Given the description of an element on the screen output the (x, y) to click on. 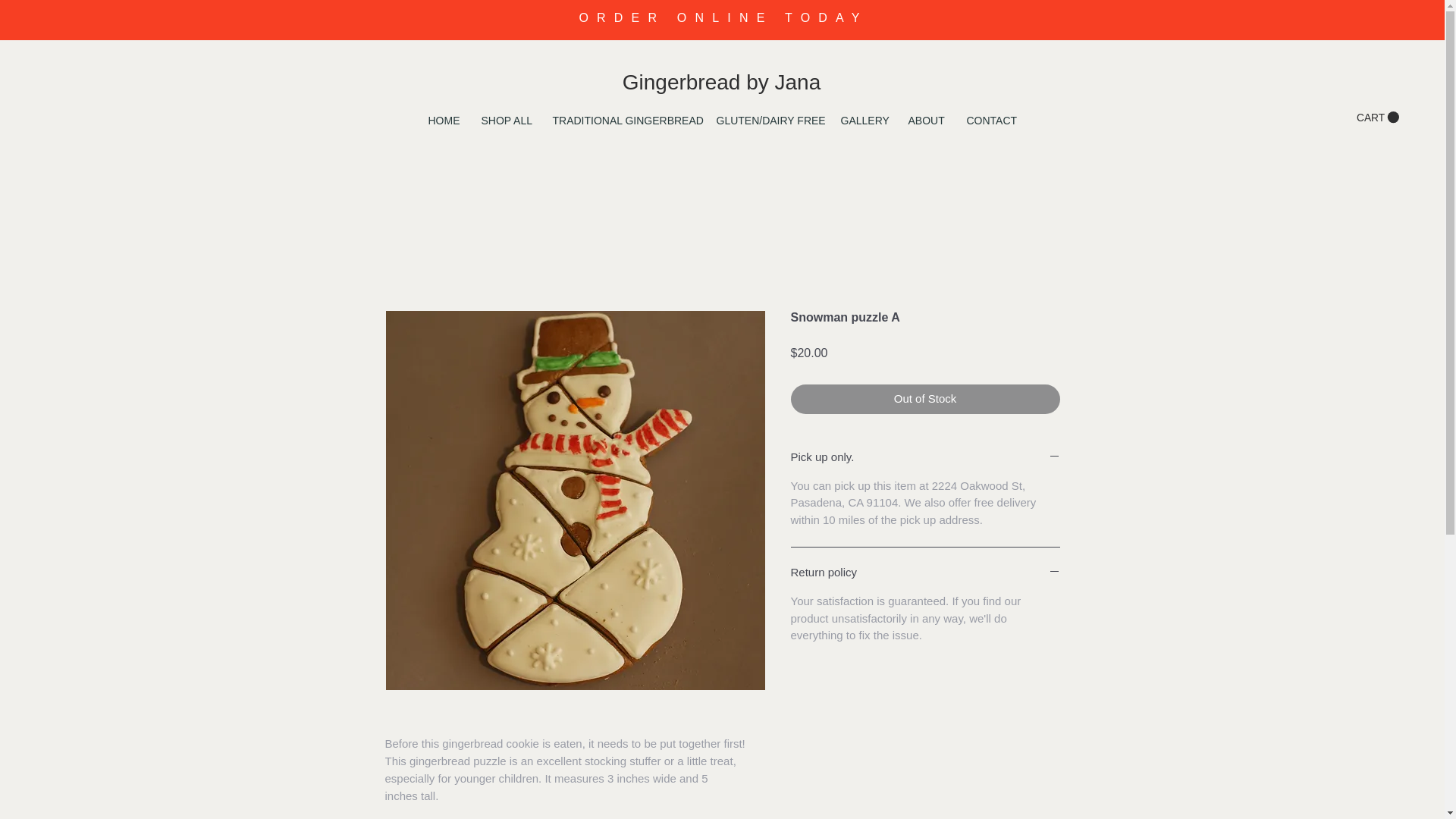
Out of Stock (924, 399)
HOME (443, 120)
CONTACT (990, 120)
CART (1377, 117)
Gingerbread by Jana (722, 82)
Pick up only. (924, 457)
SHOP ALL (505, 120)
Return policy (924, 572)
GALLERY (862, 120)
CART (1377, 117)
